Given the description of an element on the screen output the (x, y) to click on. 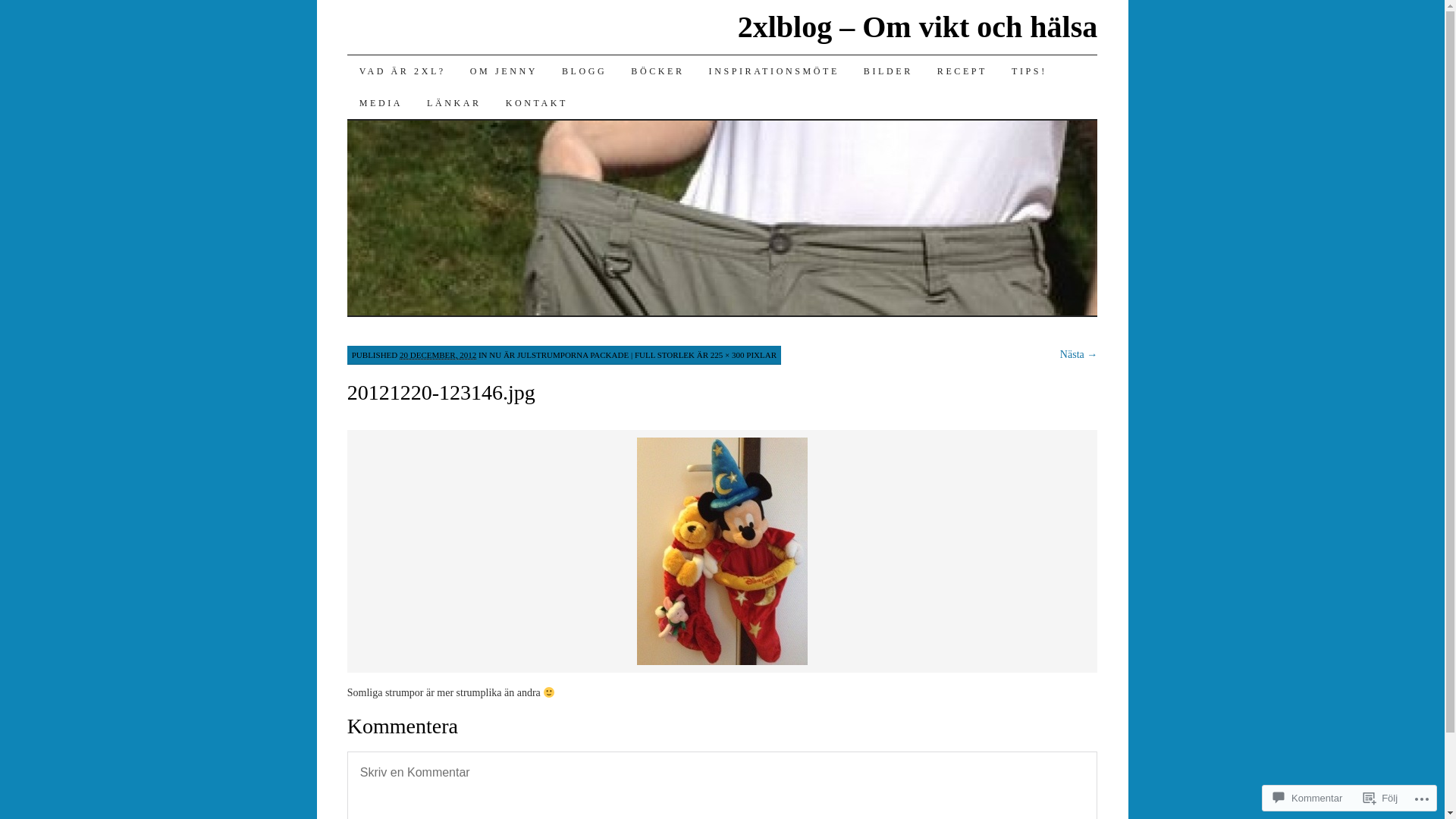
RECEPT Element type: text (962, 71)
OM JENNY Element type: text (503, 71)
20121220-123146.jpg Element type: hover (722, 662)
MEDIA Element type: text (380, 103)
Kommentar Element type: text (1307, 797)
TIPS! Element type: text (1029, 71)
KONTAKT Element type: text (536, 103)
BLOGG Element type: text (583, 71)
BILDER Element type: text (888, 71)
